Given the description of an element on the screen output the (x, y) to click on. 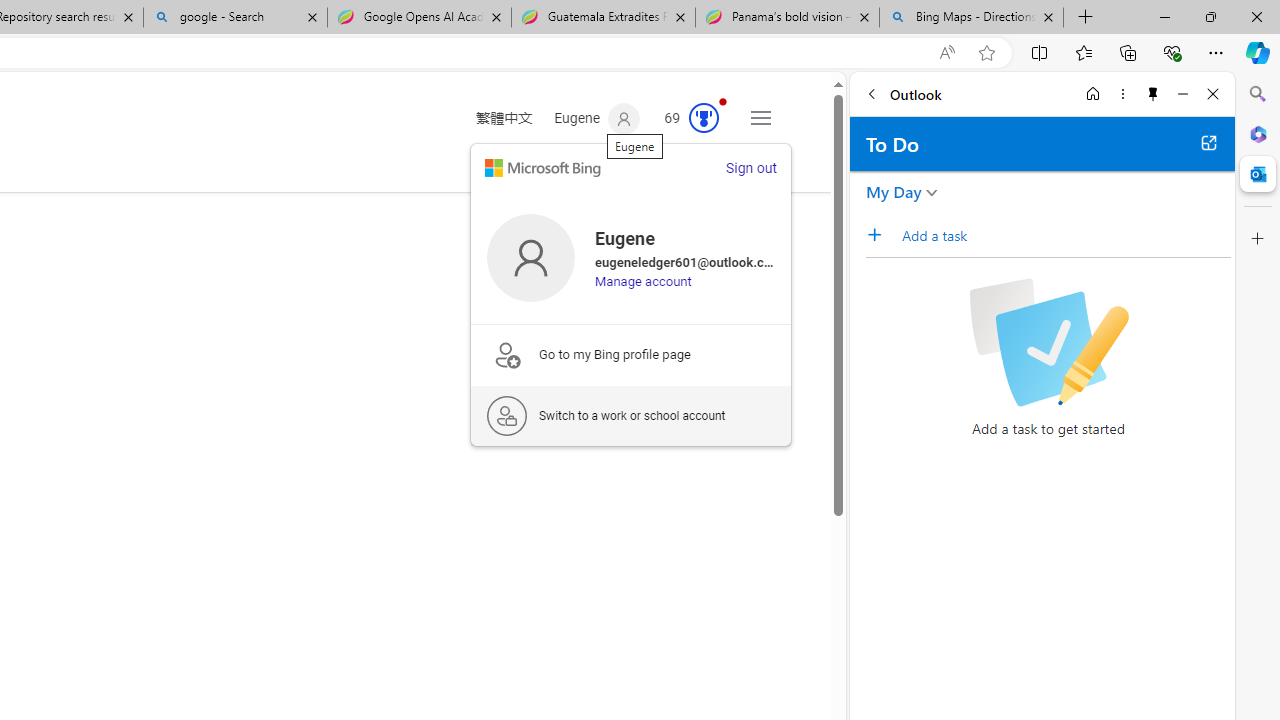
Profile Picture (530, 257)
Bing Pages Upsell Logo (506, 354)
AutomationID: rh_meter (703, 117)
Google Opens AI Academy for Startups - Nearshore Americas (418, 17)
My Day (893, 191)
Add a task (1065, 235)
Animation (723, 101)
Unpin side pane (1153, 93)
Checkbox with a pencil (1047, 342)
Microsoft Rewards 66 (685, 119)
